Given the description of an element on the screen output the (x, y) to click on. 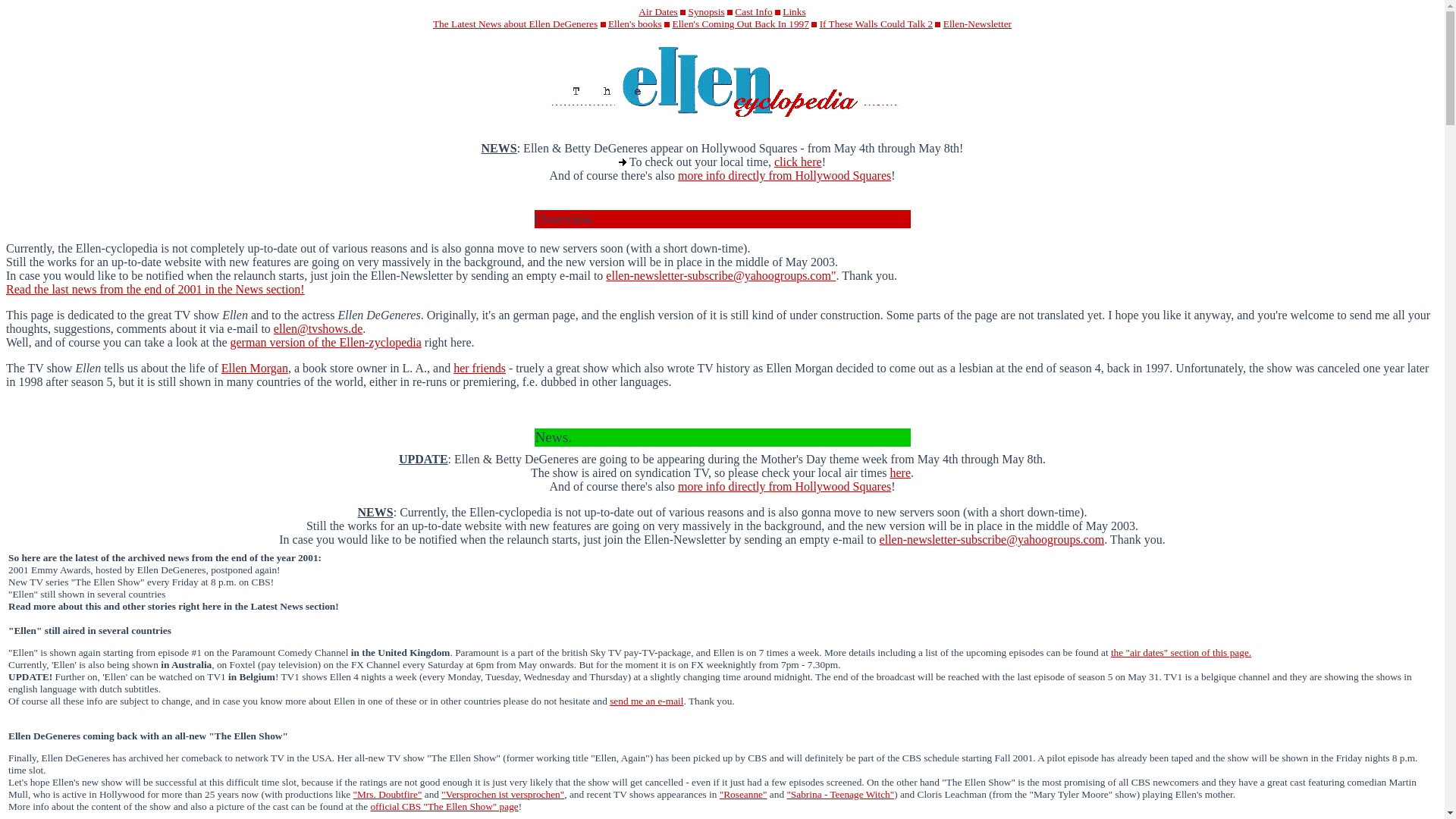
her friends (478, 367)
If These Walls Could Talk 2 (876, 23)
Ellen's Coming Out Back In 1997 (739, 23)
the "air dates" section of this page. (1180, 652)
The Latest News about Ellen DeGeneres (514, 23)
Ellen Morgan (254, 367)
Links (794, 11)
Ellen-Newsletter (977, 23)
german version of the Ellen-zyclopedia (326, 341)
send me an e-mail (646, 700)
Cast Info (753, 11)
official CBS "The Ellen Show" page (443, 806)
click here (798, 161)
"Sabrina - Teenage Witch" (839, 794)
Air Dates (658, 11)
